Given the description of an element on the screen output the (x, y) to click on. 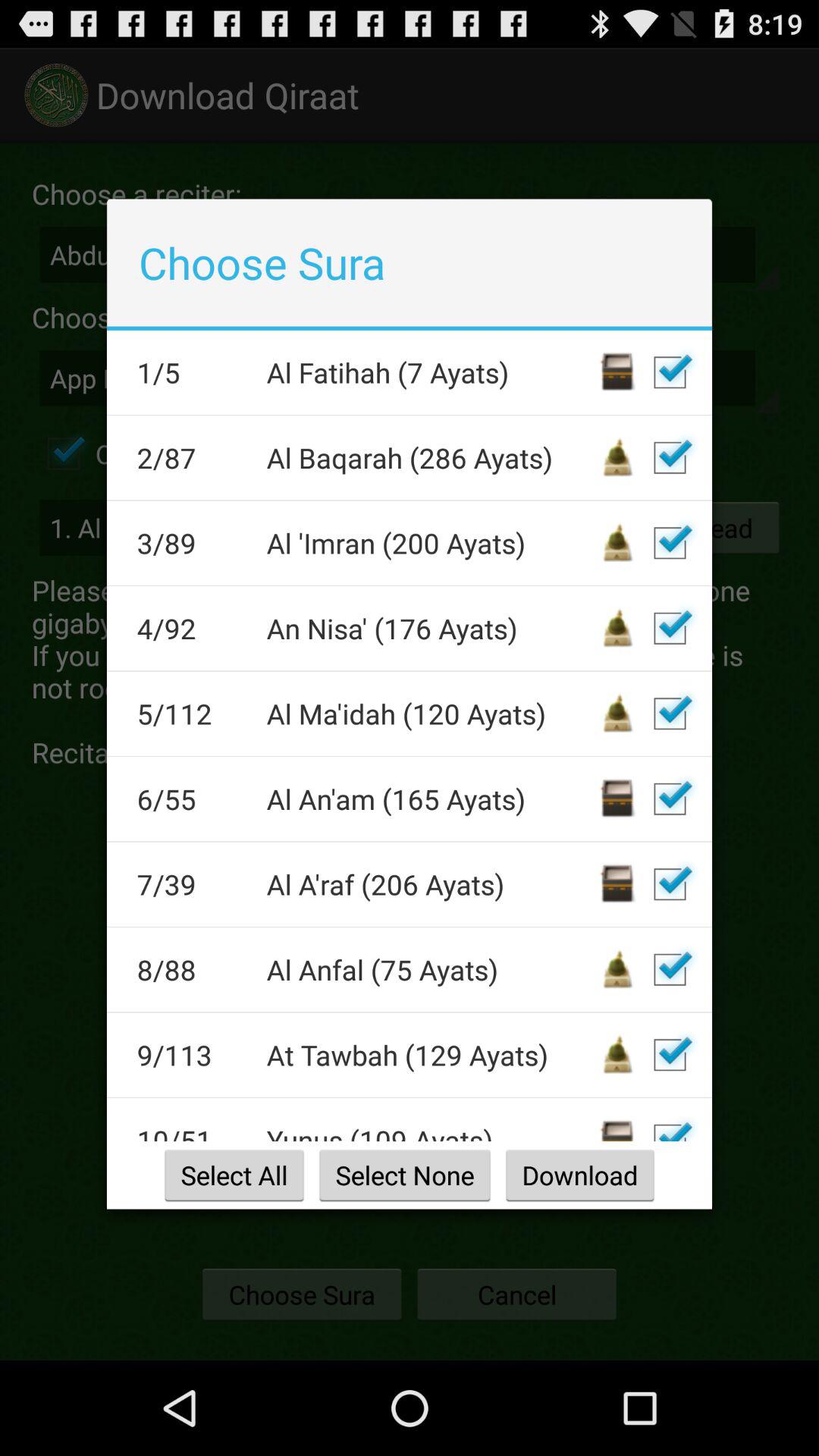
launch al baqarah 286 (430, 457)
